Given the description of an element on the screen output the (x, y) to click on. 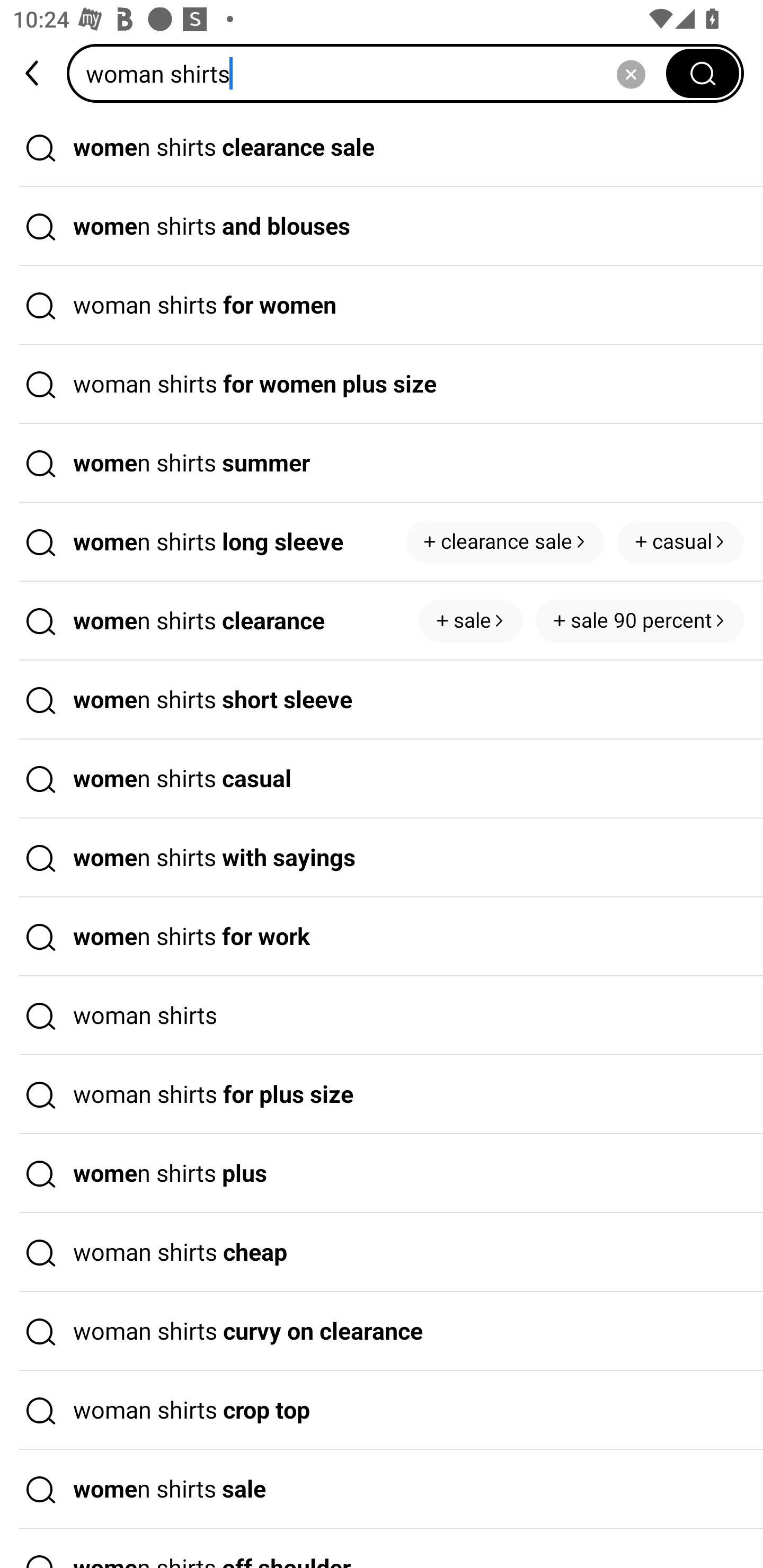
back (33, 72)
woman shirts (372, 73)
Delete search history (630, 73)
women shirts clearance sale (381, 147)
women shirts and blouses (381, 226)
woman shirts for women (381, 305)
woman shirts for women plus size (381, 383)
women shirts summer (381, 463)
women shirts long sleeve clearance sale casual (381, 542)
clearance sale (504, 541)
casual (680, 541)
women shirts clearance sale sale 90 percent (381, 620)
sale (470, 620)
sale 90 percent (639, 620)
women shirts short sleeve (381, 700)
women shirts casual (381, 779)
women shirts with sayings (381, 857)
women shirts for work (381, 936)
woman shirts (381, 1015)
woman shirts for plus size (381, 1094)
women shirts plus (381, 1173)
woman shirts cheap (381, 1252)
woman shirts curvy on clearance (381, 1331)
woman shirts crop top (381, 1410)
women shirts sale (381, 1489)
